Given the description of an element on the screen output the (x, y) to click on. 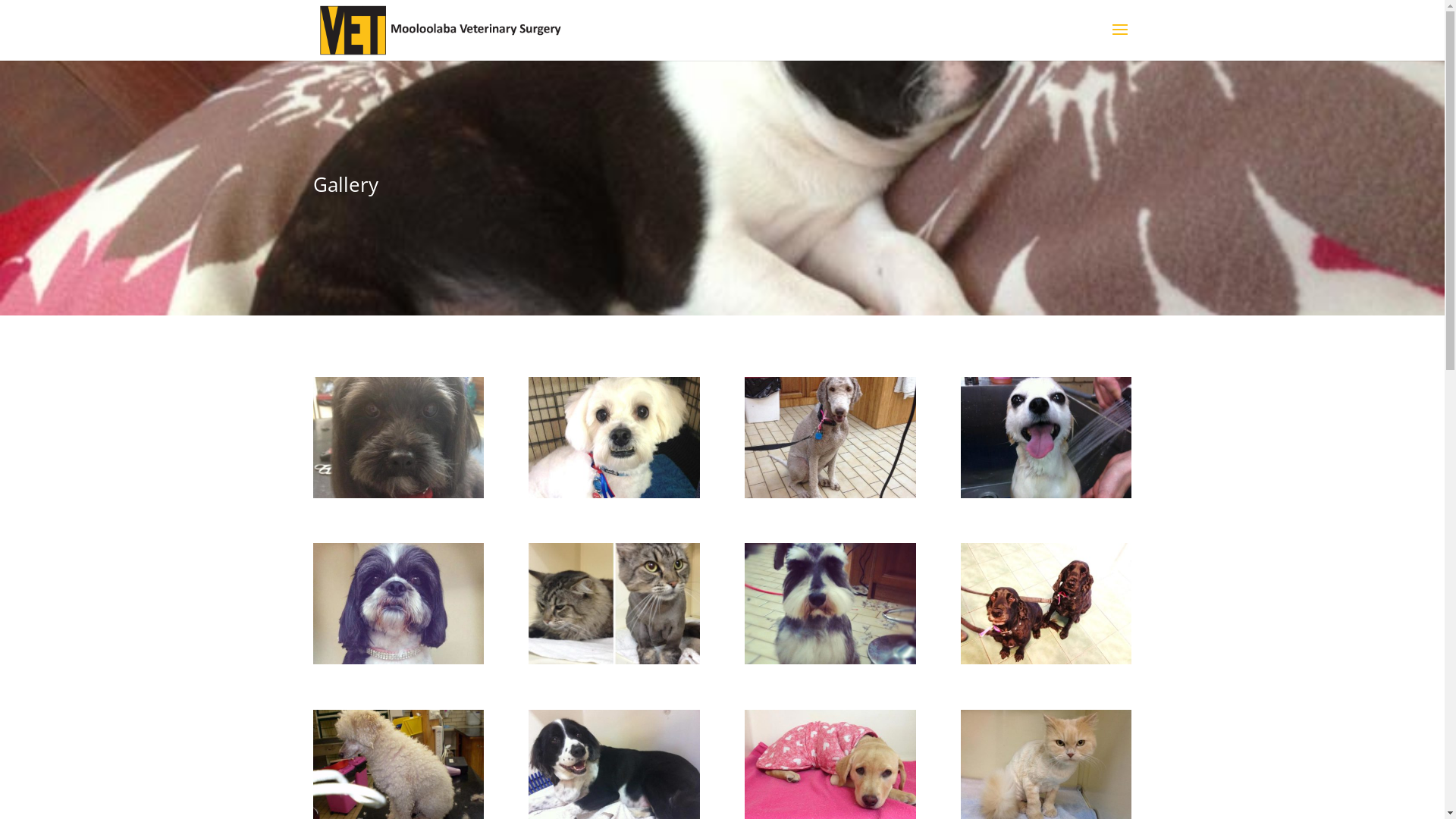
grooming2 Element type: hover (613, 493)
grooming3 Element type: hover (829, 493)
grooming Element type: hover (397, 493)
grooming9 Element type: hover (829, 659)
grooming7 Element type: hover (1045, 493)
grooming8 Element type: hover (397, 659)
grooming5 Element type: hover (1045, 659)
grooming6 Element type: hover (613, 659)
